Given the description of an element on the screen output the (x, y) to click on. 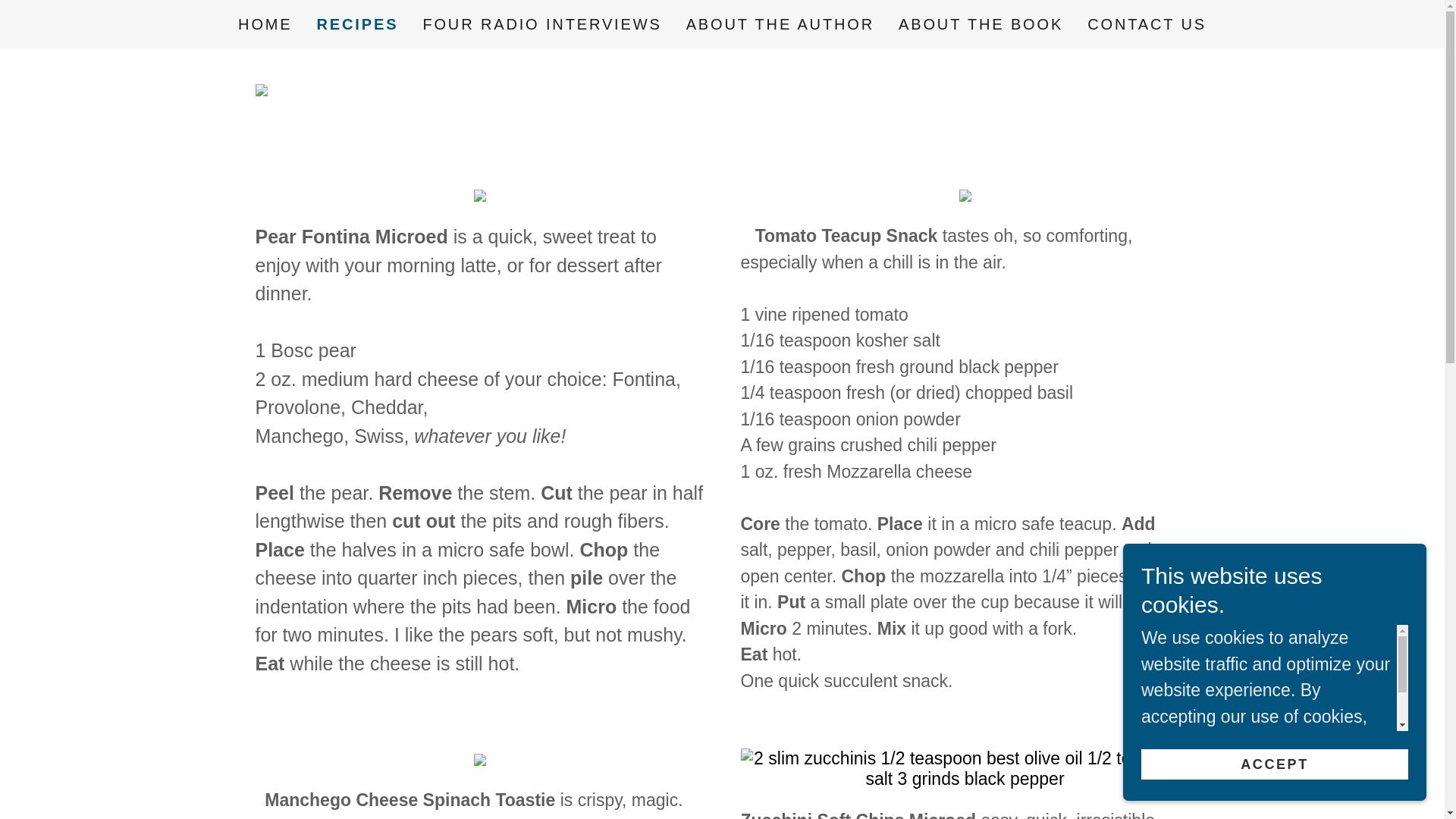
ACCEPT (1274, 764)
CONTACT US (1147, 23)
HOME (264, 23)
ABOUT THE AUTHOR (780, 23)
FOUR RADIO INTERVIEWS (541, 23)
RECIPES (357, 24)
ABOUT THE BOOK (980, 23)
